Given the description of an element on the screen output the (x, y) to click on. 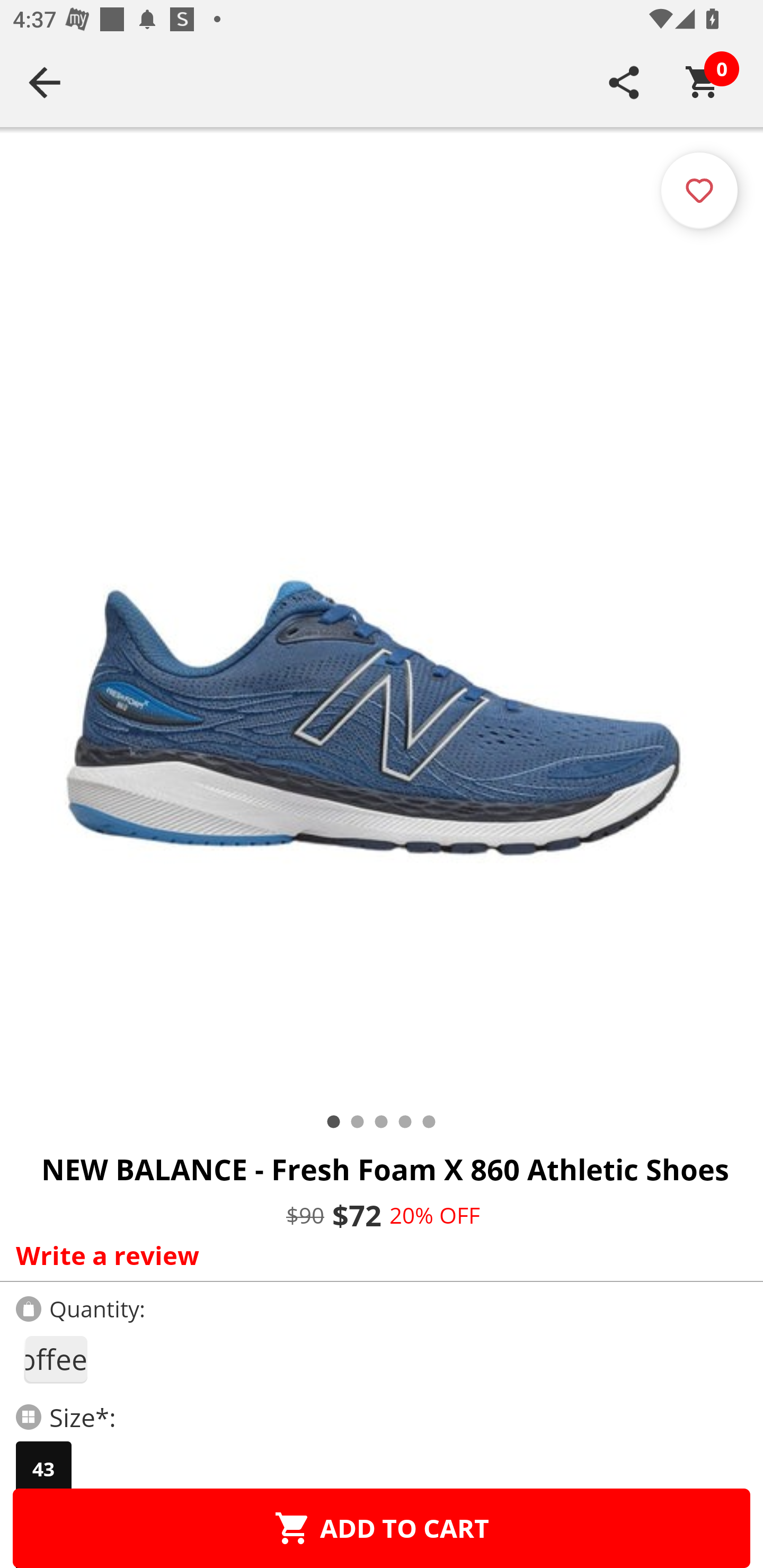
Navigate up (44, 82)
SHARE (623, 82)
Cart (703, 81)
Write a review (377, 1255)
1toothbrushcoffee (55, 1358)
43 (43, 1468)
ADD TO CART (381, 1528)
